Given the description of an element on the screen output the (x, y) to click on. 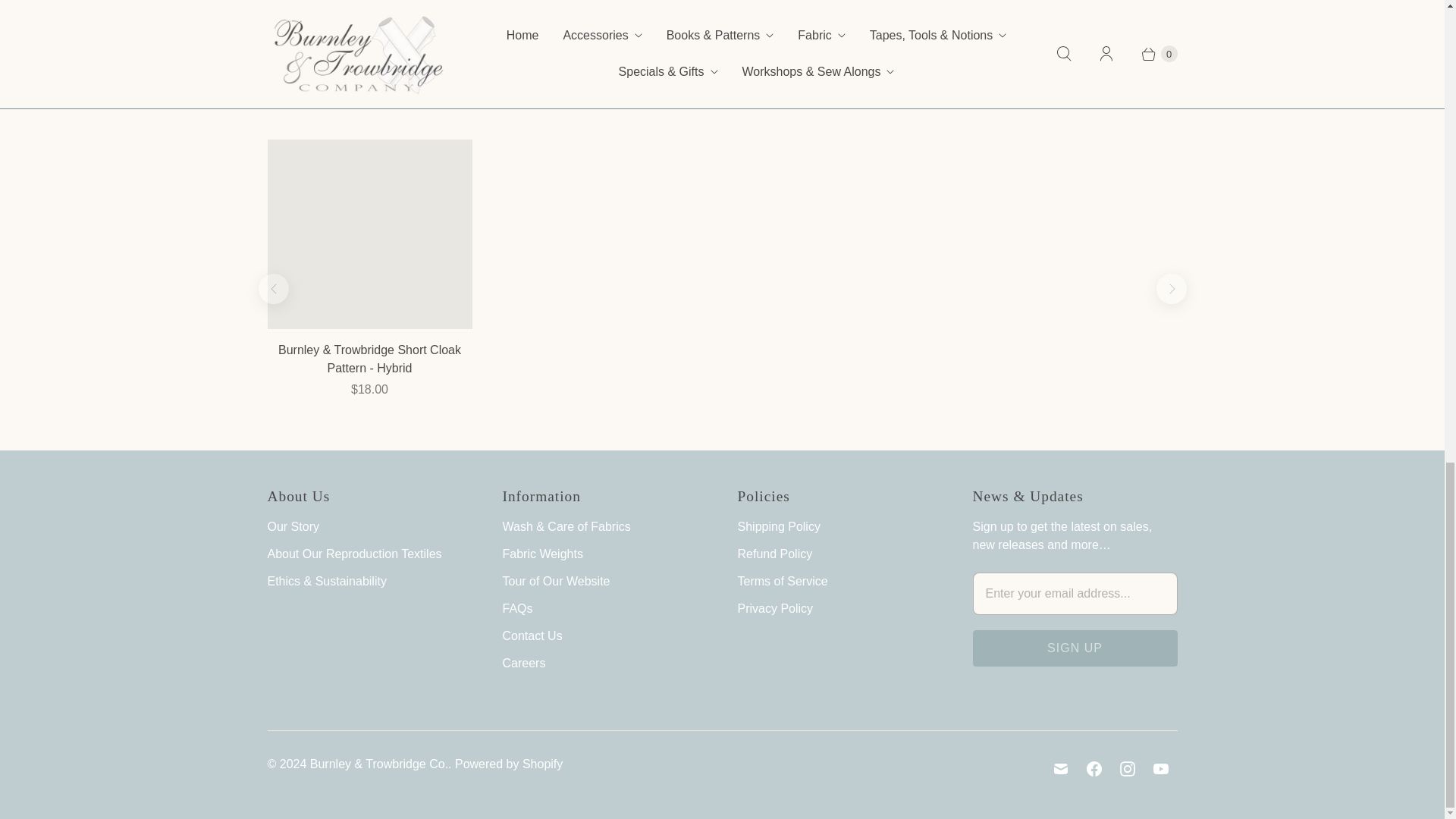
Sign Up (1074, 647)
